Given the description of an element on the screen output the (x, y) to click on. 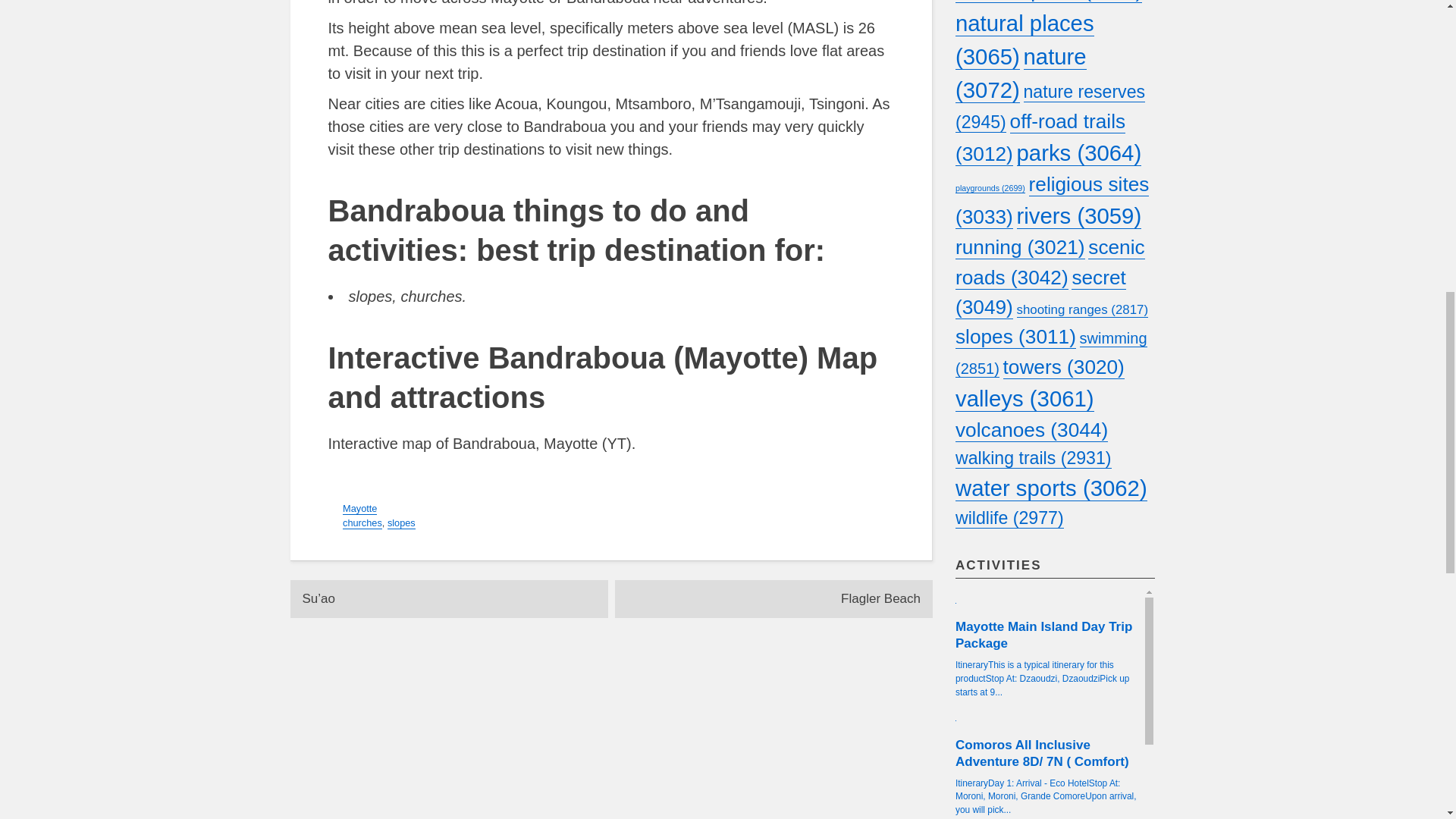
churches (361, 522)
slopes (400, 522)
Tags icon (333, 522)
Categories icon (332, 507)
Flagler Beach (773, 598)
Mayotte (359, 508)
